Given the description of an element on the screen output the (x, y) to click on. 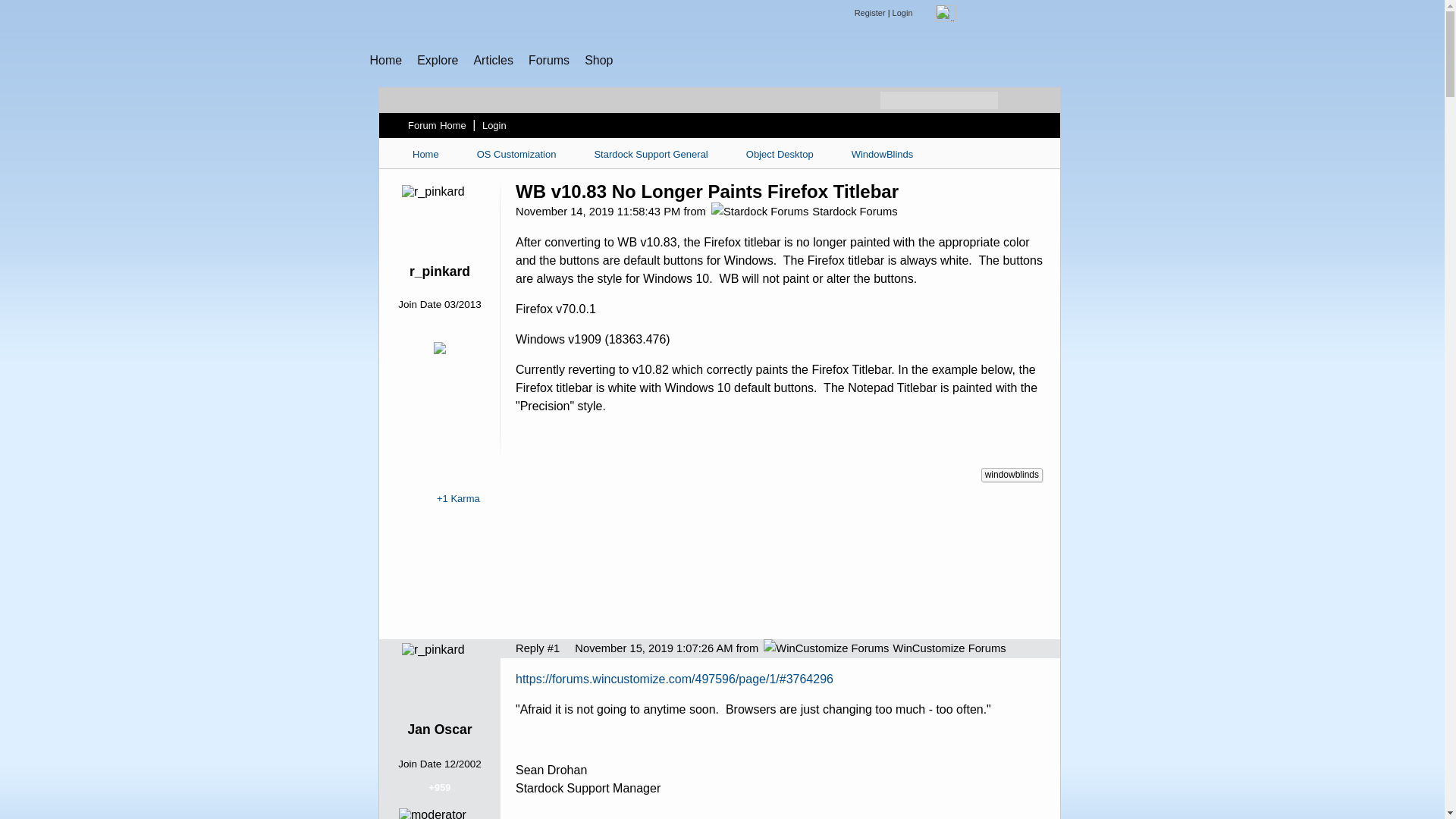
Click user name to view more options. (439, 271)
Forums (548, 60)
query (1018, 14)
Register (869, 12)
Rank: 1 (440, 289)
all (946, 13)
Object Desktop (779, 154)
Forum Home (436, 125)
Liked - Received 5 Total Karma (429, 359)
Login (493, 125)
